Given the description of an element on the screen output the (x, y) to click on. 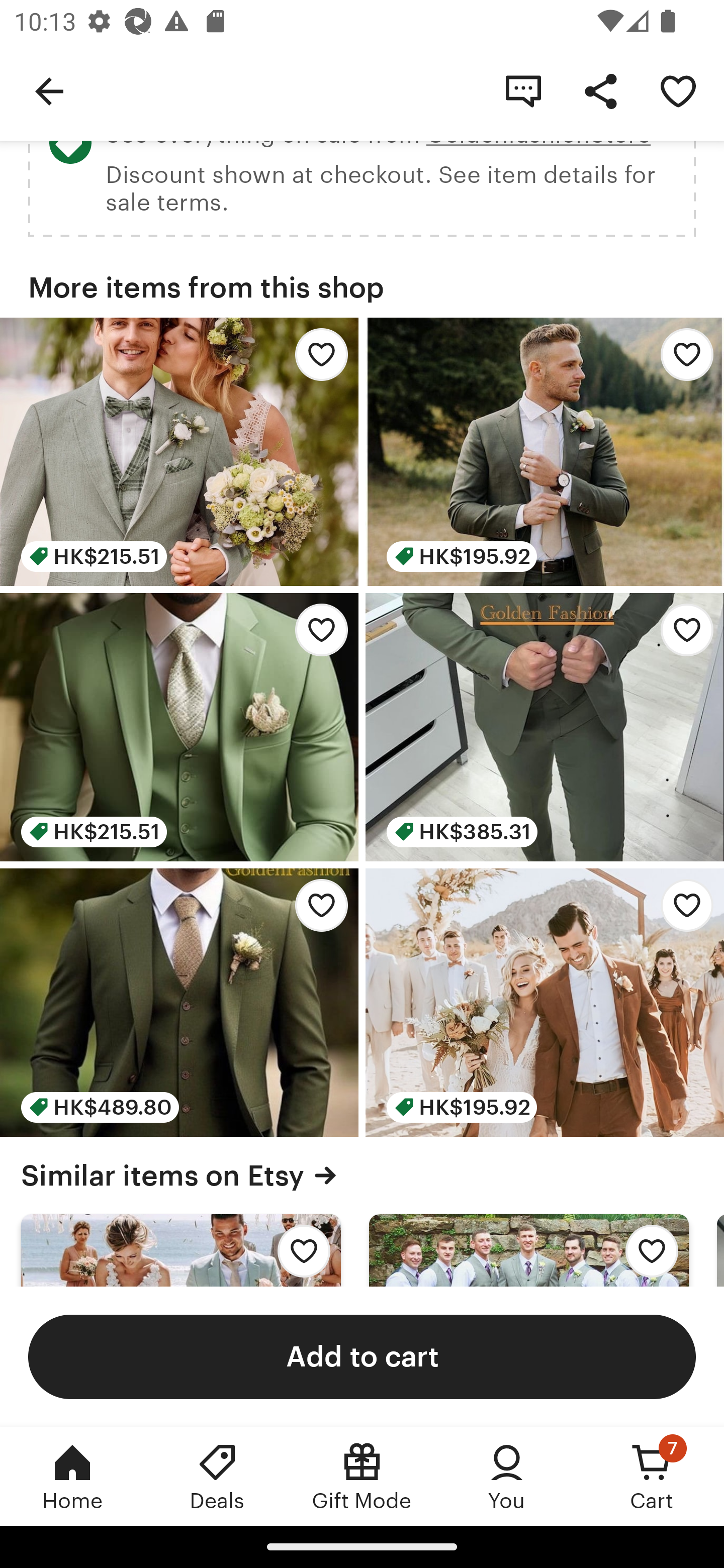
Navigate up (49, 90)
Contact shop (523, 90)
Share (600, 90)
Similar items on Etsy  (362, 1174)
Add to cart (361, 1355)
Deals (216, 1475)
Gift Mode (361, 1475)
You (506, 1475)
Cart, 7 new notifications Cart (651, 1475)
